Given the description of an element on the screen output the (x, y) to click on. 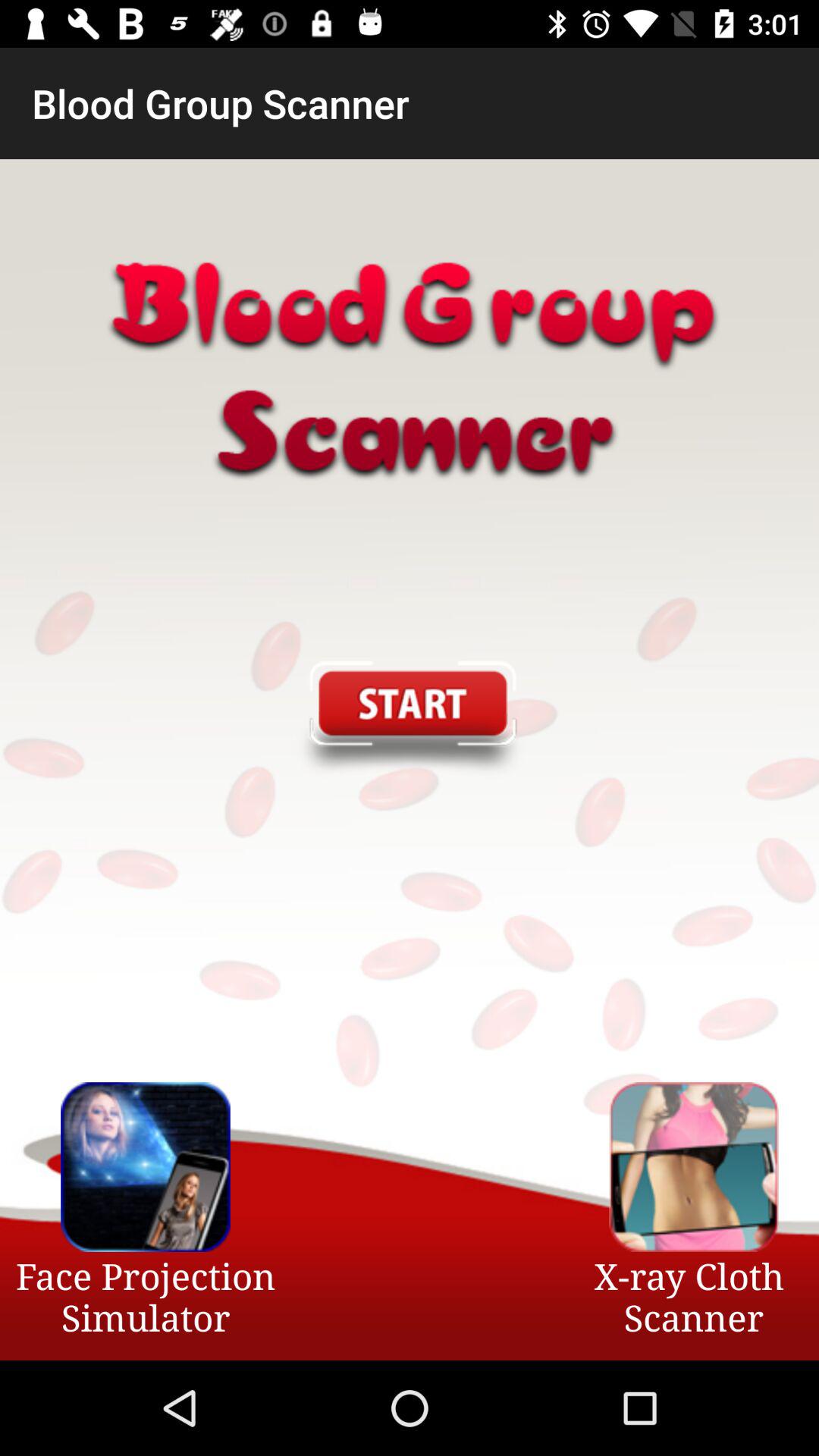
select the item at the center (409, 719)
